Given the description of an element on the screen output the (x, y) to click on. 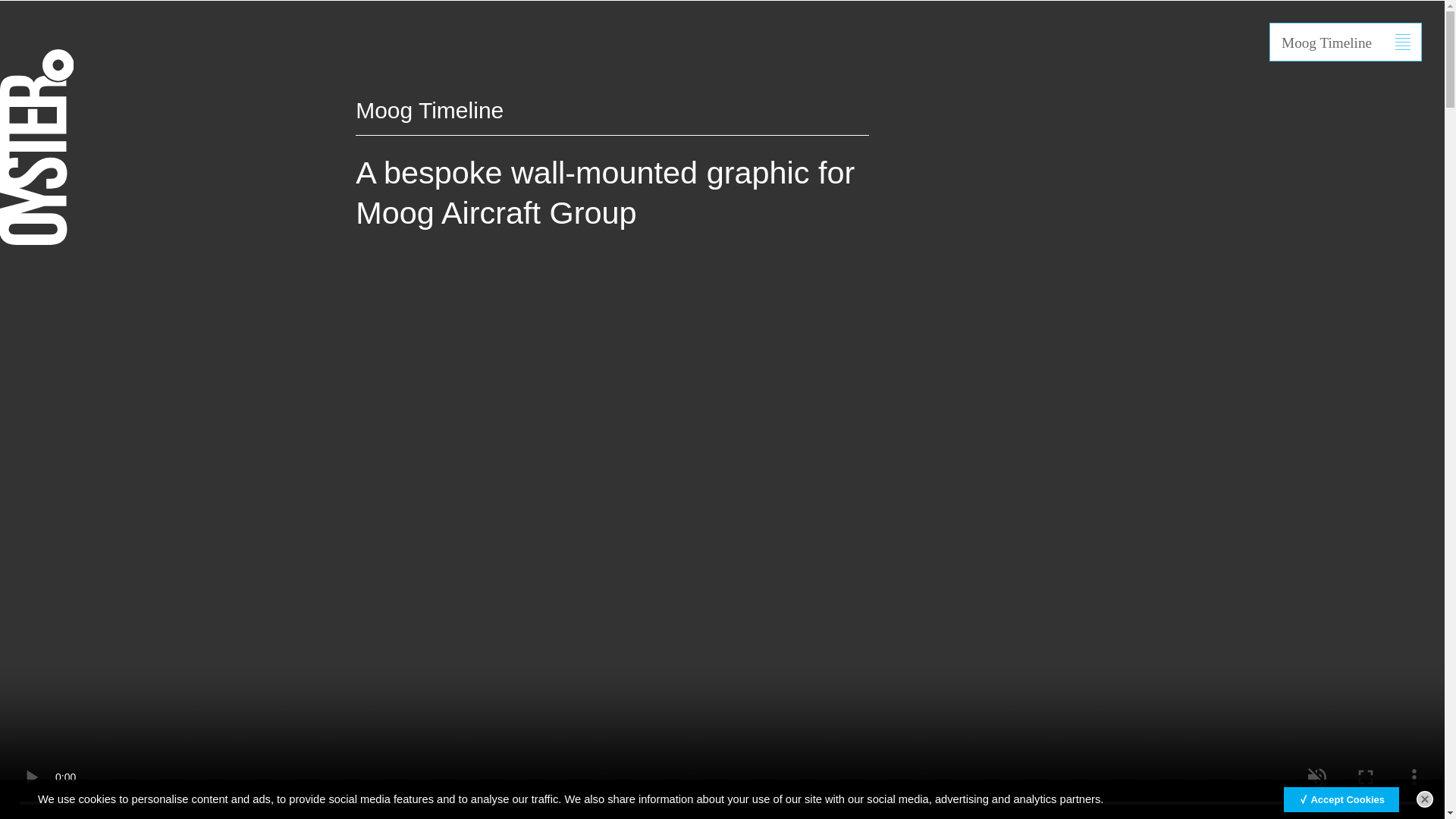
About (1037, 13)
Close (1424, 799)
Home (964, 13)
Accept Cookies (1341, 799)
Projects (1115, 13)
News (1297, 13)
Contact (1373, 13)
Accept Cookies (1341, 799)
Capabilities (1209, 13)
